Given the description of an element on the screen output the (x, y) to click on. 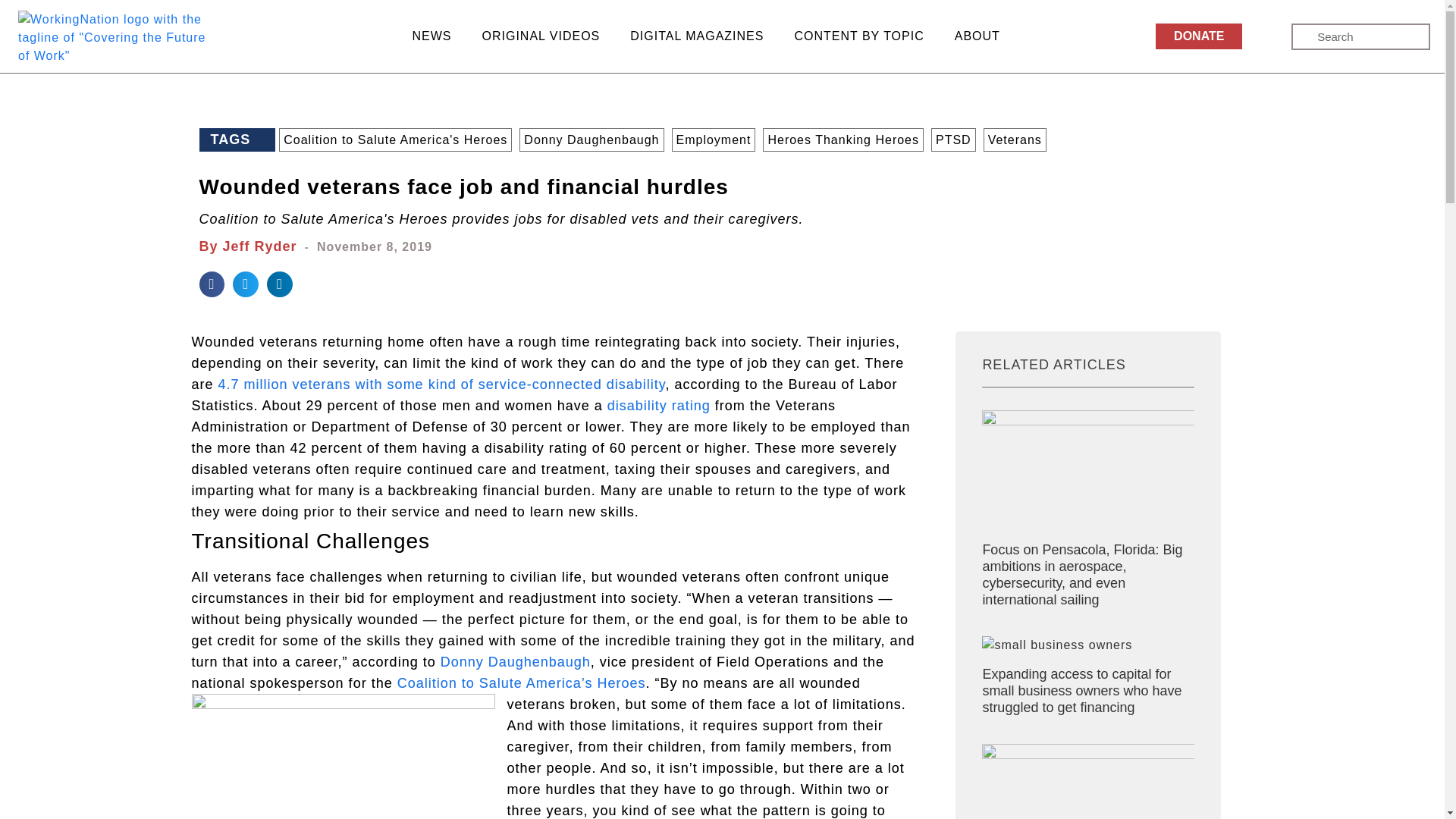
NEWS (432, 36)
ABOUT (977, 36)
DIGITAL MAGAZINES (696, 36)
ORIGINAL VIDEOS (541, 36)
CONTENT BY TOPIC (858, 36)
WNlogoBluewithtagline (112, 37)
